Given the description of an element on the screen output the (x, y) to click on. 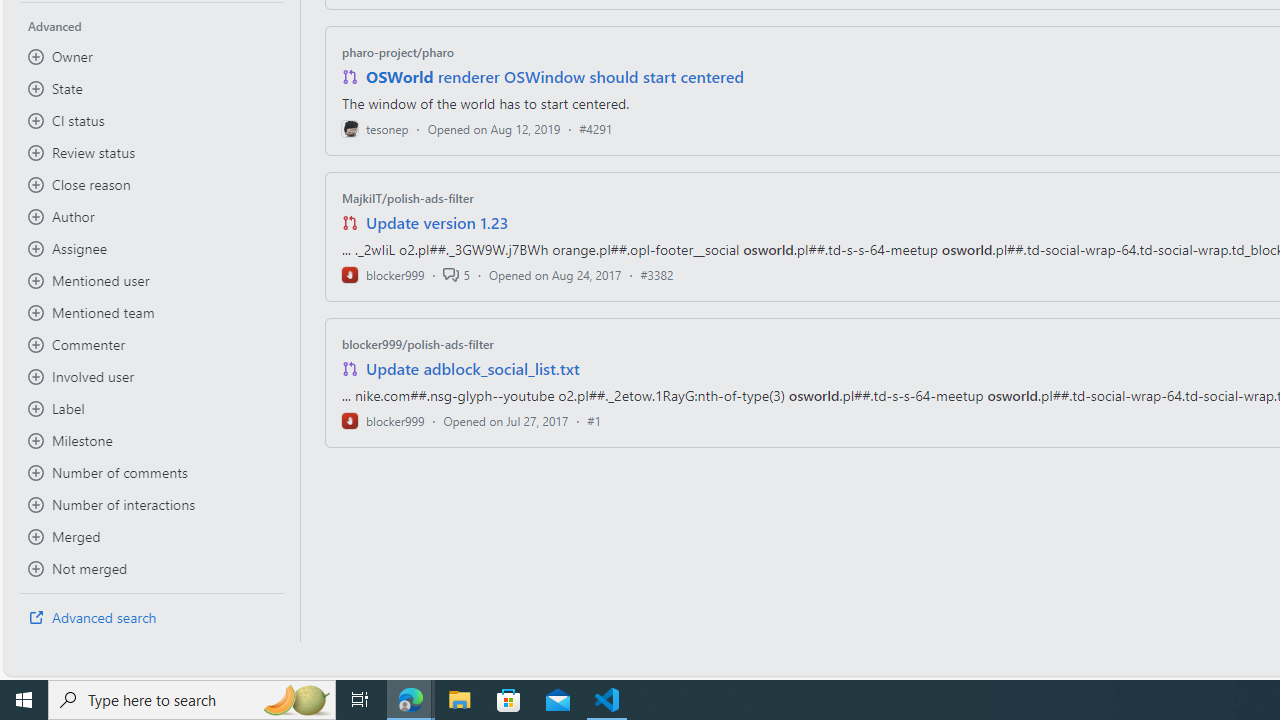
Advanced search (152, 617)
MajkiIT/polish-ads-filter (407, 197)
OSWorld renderer OSWindow should start centered (554, 76)
